Given the description of an element on the screen output the (x, y) to click on. 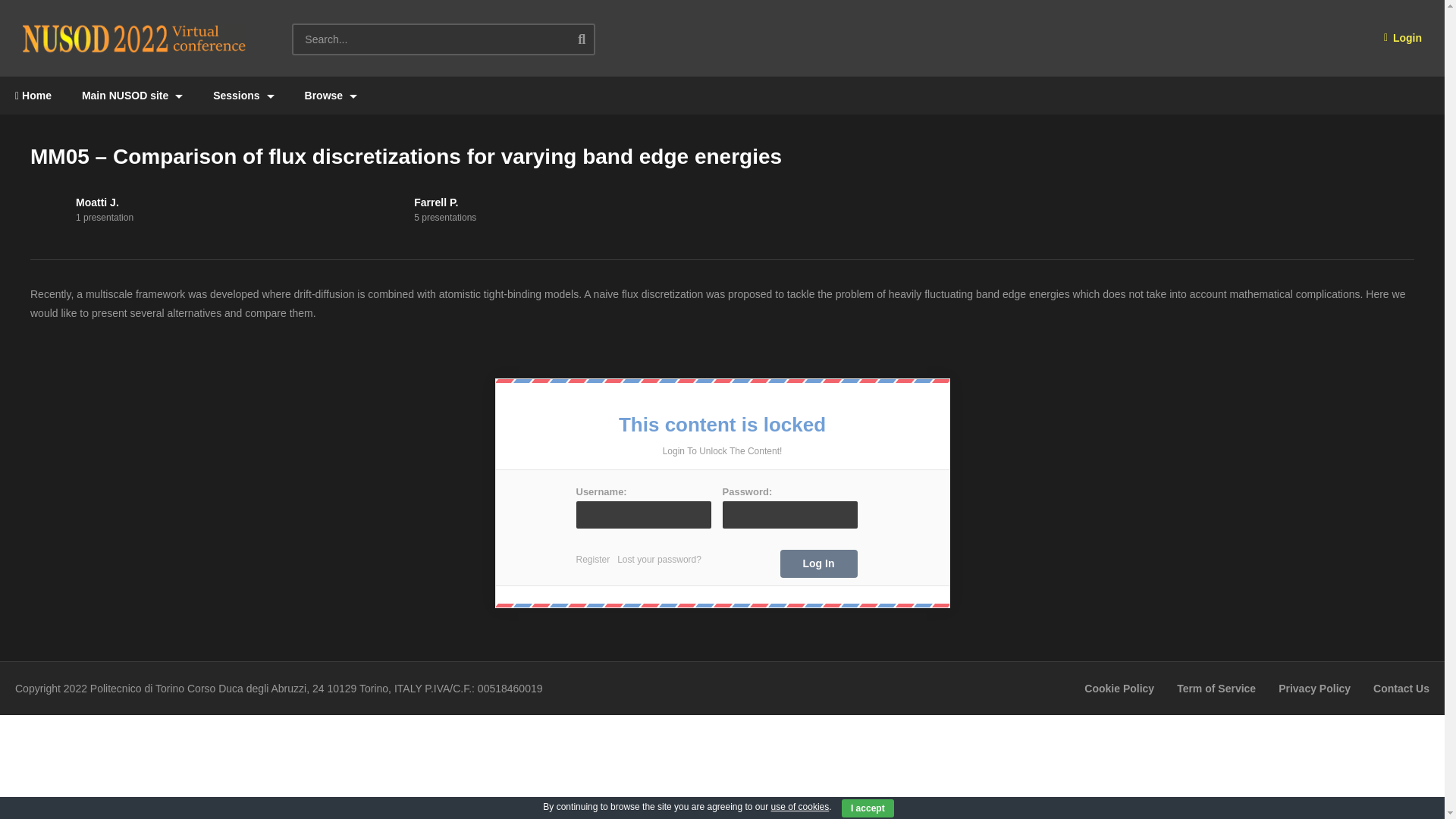
Cookie Policy (1119, 688)
Moatti J. (97, 202)
Moatti J. (49, 209)
Log In (817, 563)
Lost your password? (663, 559)
Contact Us (1401, 688)
Privacy Policy (1314, 688)
Log In (817, 563)
Farrell P. (387, 209)
Term of Service (1215, 688)
Moatti J. (97, 202)
Register (596, 559)
 Login (1402, 38)
Main NUSOD site (132, 95)
NUSOD 2022 (134, 37)
